Given the description of an element on the screen output the (x, y) to click on. 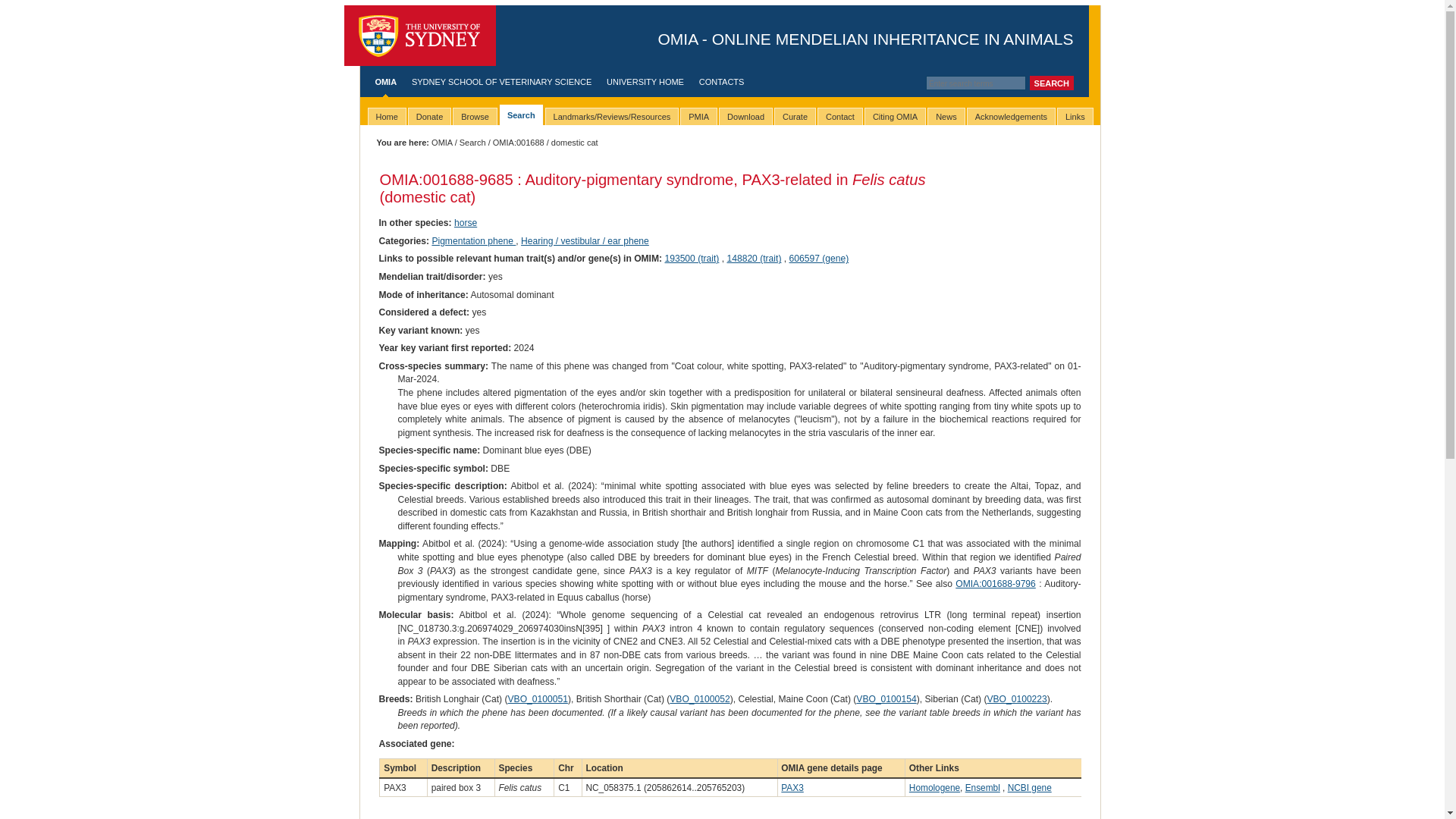
OMIA:001688 (518, 142)
Links (1075, 116)
Ensembl (982, 787)
Pigmentation phene (472, 240)
CONTACTS (721, 81)
OMIA:001688-9796 (995, 583)
Home (386, 116)
NCBI gene (1029, 787)
UNIVERSITY HOME (645, 81)
OMIA:001688 (426, 179)
OMIA (441, 142)
Download (746, 116)
Search (521, 114)
PMIA (698, 116)
horse (465, 222)
